Given the description of an element on the screen output the (x, y) to click on. 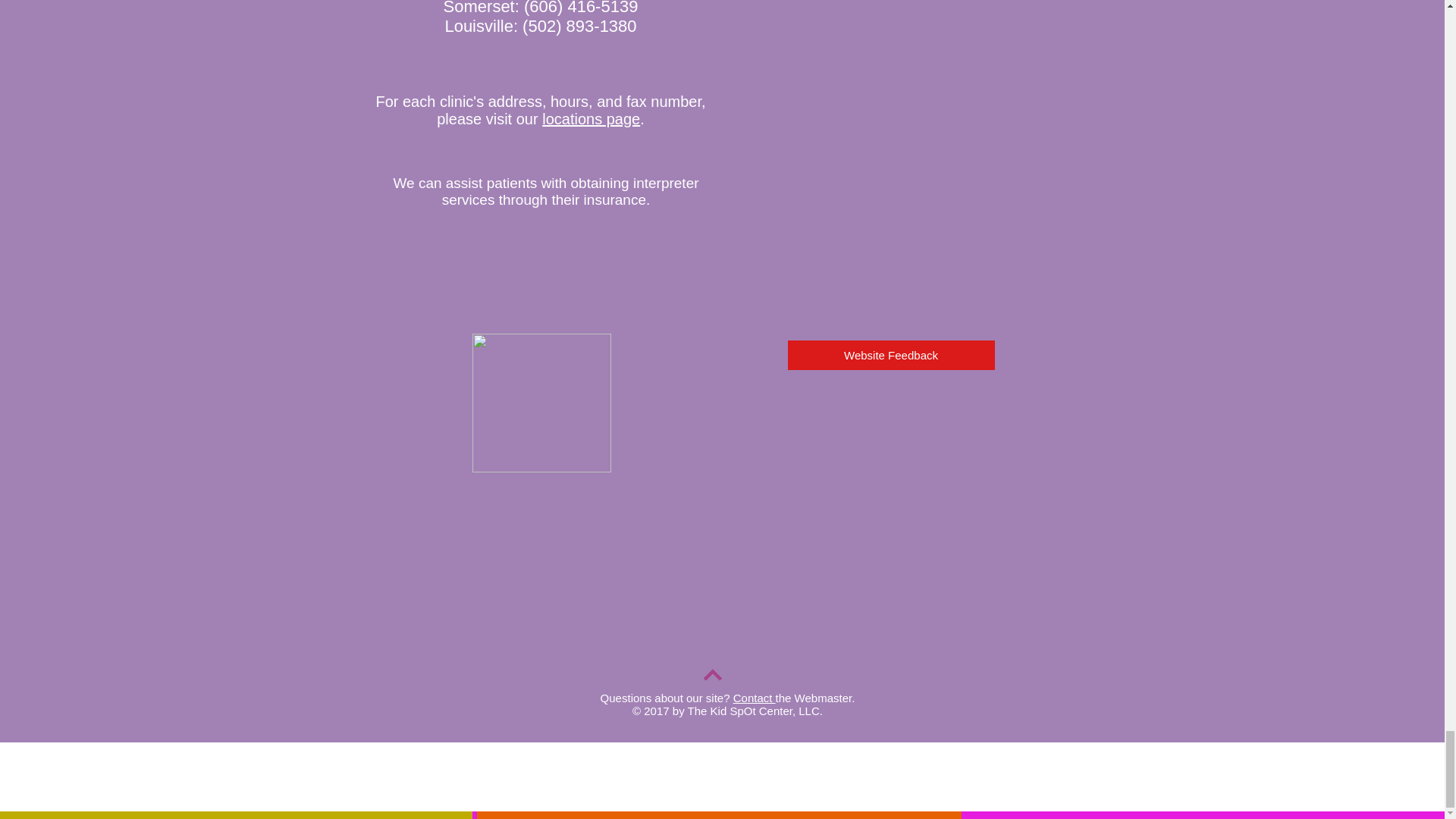
988-square-white-black.jpg (540, 402)
